Given the description of an element on the screen output the (x, y) to click on. 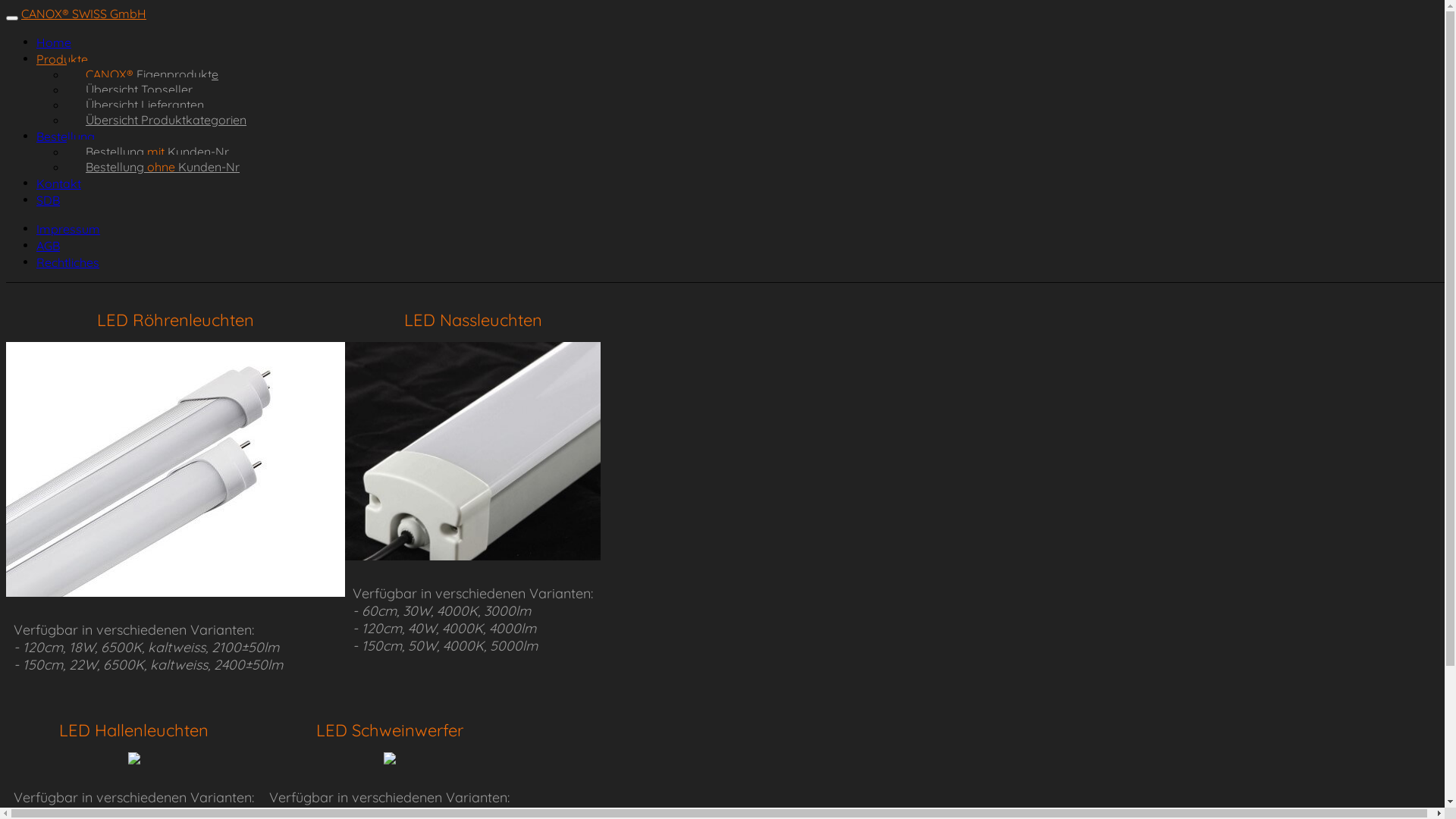
Produkte Element type: text (61, 58)
Rechtliches Element type: text (67, 261)
Impressum Element type: text (68, 228)
Kontakt Element type: text (58, 183)
Bestellung ohne Kunden-Nr Element type: text (162, 166)
Bestellung mit Kunden-Nr Element type: text (156, 151)
SDB Element type: text (47, 199)
Bestellung Element type: text (65, 136)
AGB Element type: text (47, 245)
Home Element type: text (53, 42)
